Given the description of an element on the screen output the (x, y) to click on. 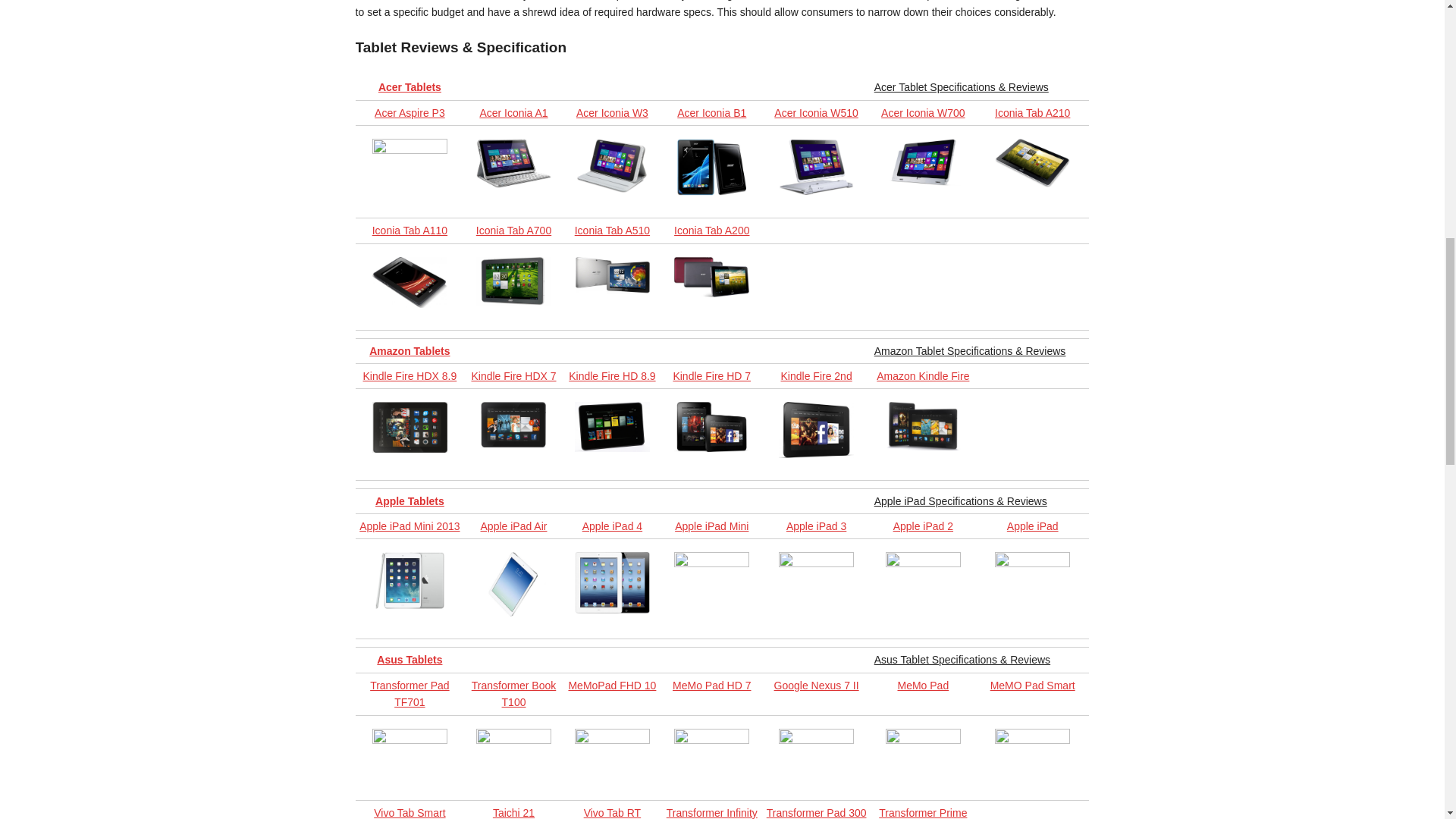
Acer Iconia W700 (922, 112)
Iconia Tab A210 (1032, 112)
Iconia Tab A110 (409, 230)
Acer Iconia A1 (513, 112)
Acer Iconia W510 (816, 112)
Acer Iconia B1 (711, 112)
Acer Iconia W3 (611, 112)
Acer Tablets (409, 87)
Acer Aspire P3 (409, 112)
